Given the description of an element on the screen output the (x, y) to click on. 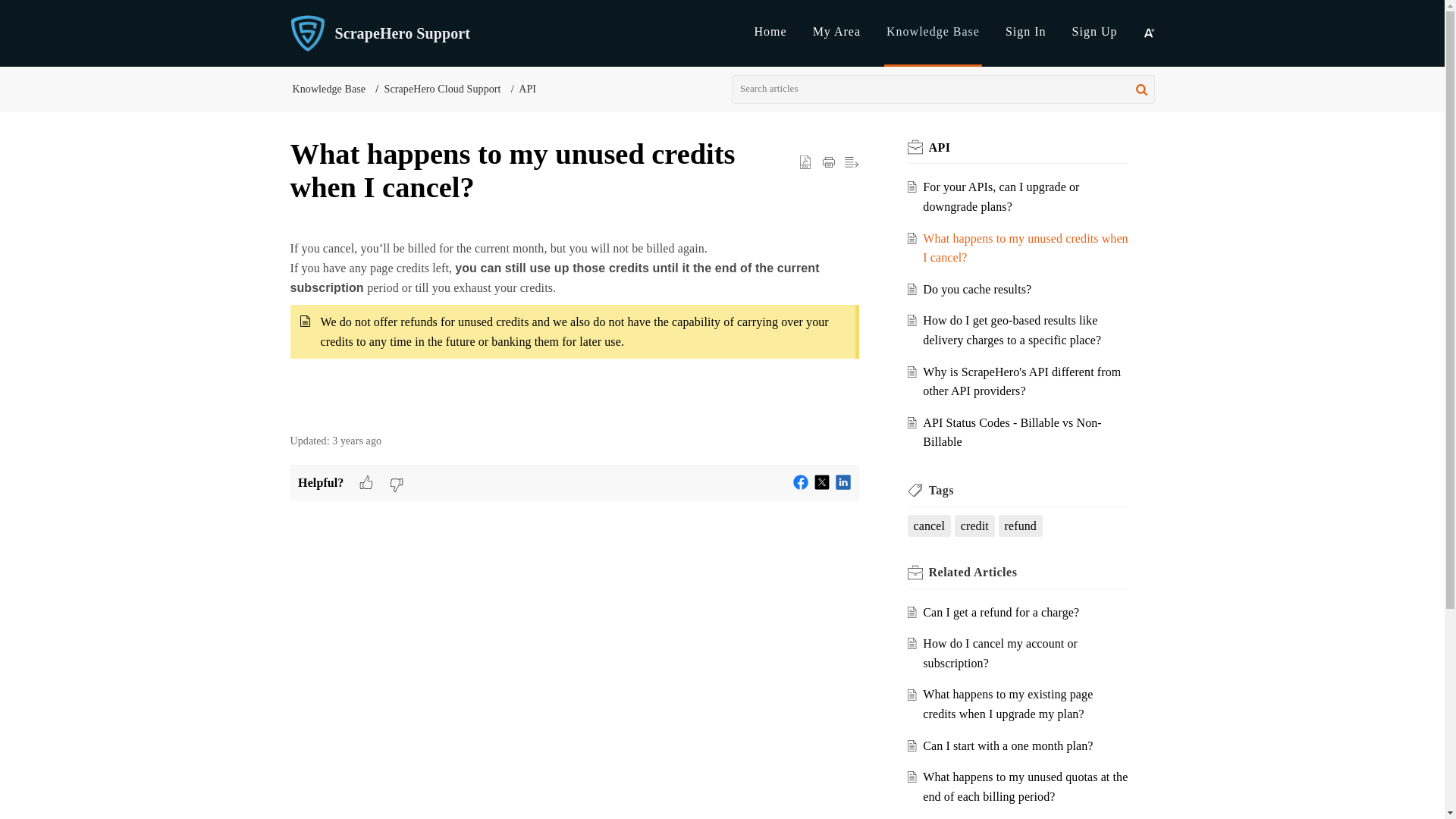
API Status Codes - Billable vs Non-Billable (1012, 432)
Sign In (1026, 31)
15 Dec 2020 04:39 AM (356, 440)
Facebook (800, 481)
refund (1020, 526)
What happens to my unused credits when I cancel? (1024, 247)
API (939, 146)
Why is ScrapeHero's API different from other API providers? (1022, 381)
credit (974, 526)
